Given the description of an element on the screen output the (x, y) to click on. 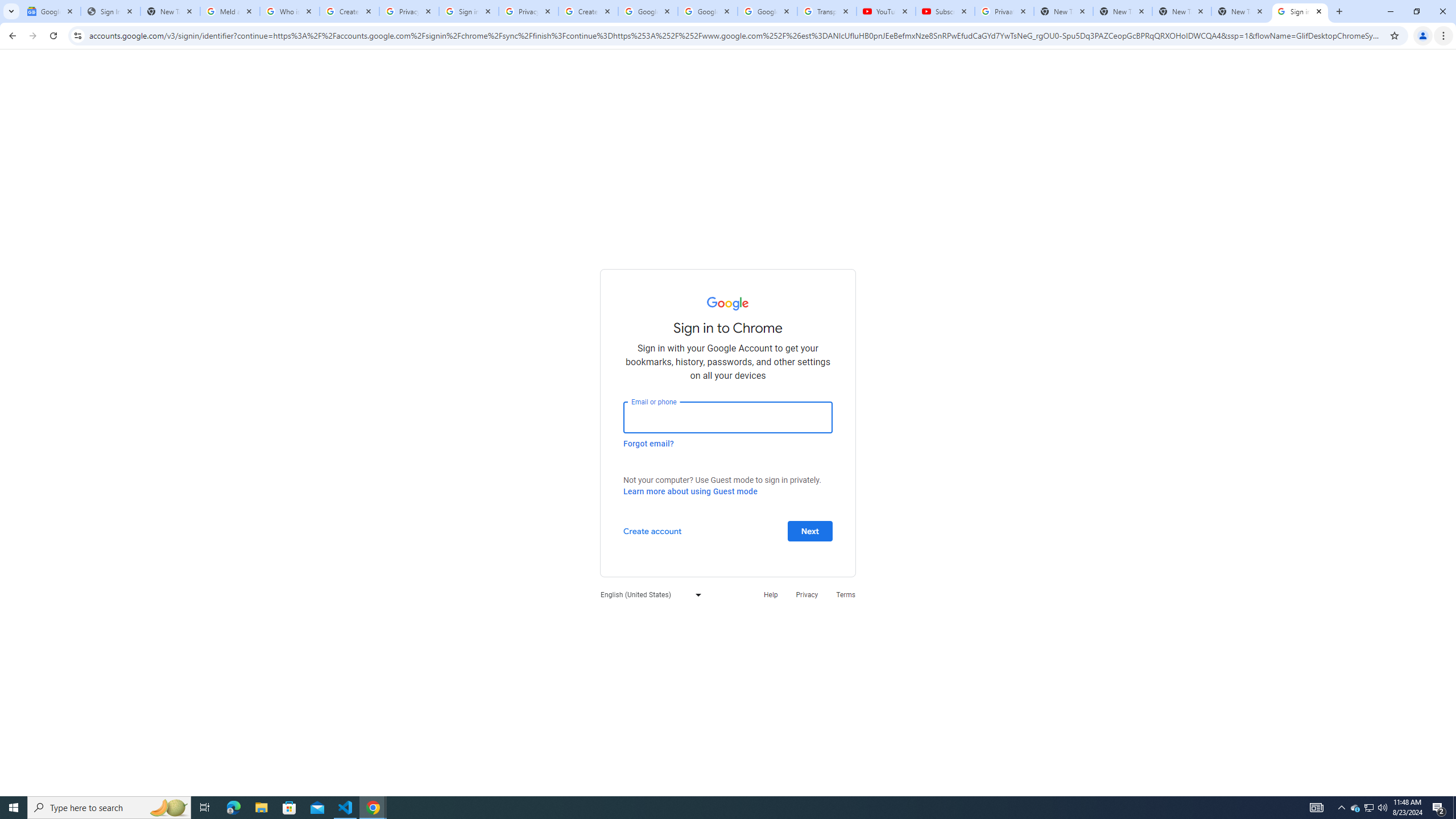
Learn more about using Guest mode (689, 491)
New Tab (1241, 11)
Who is my administrator? - Google Account Help (289, 11)
Subscriptions - YouTube (944, 11)
Create account (651, 530)
